Given the description of an element on the screen output the (x, y) to click on. 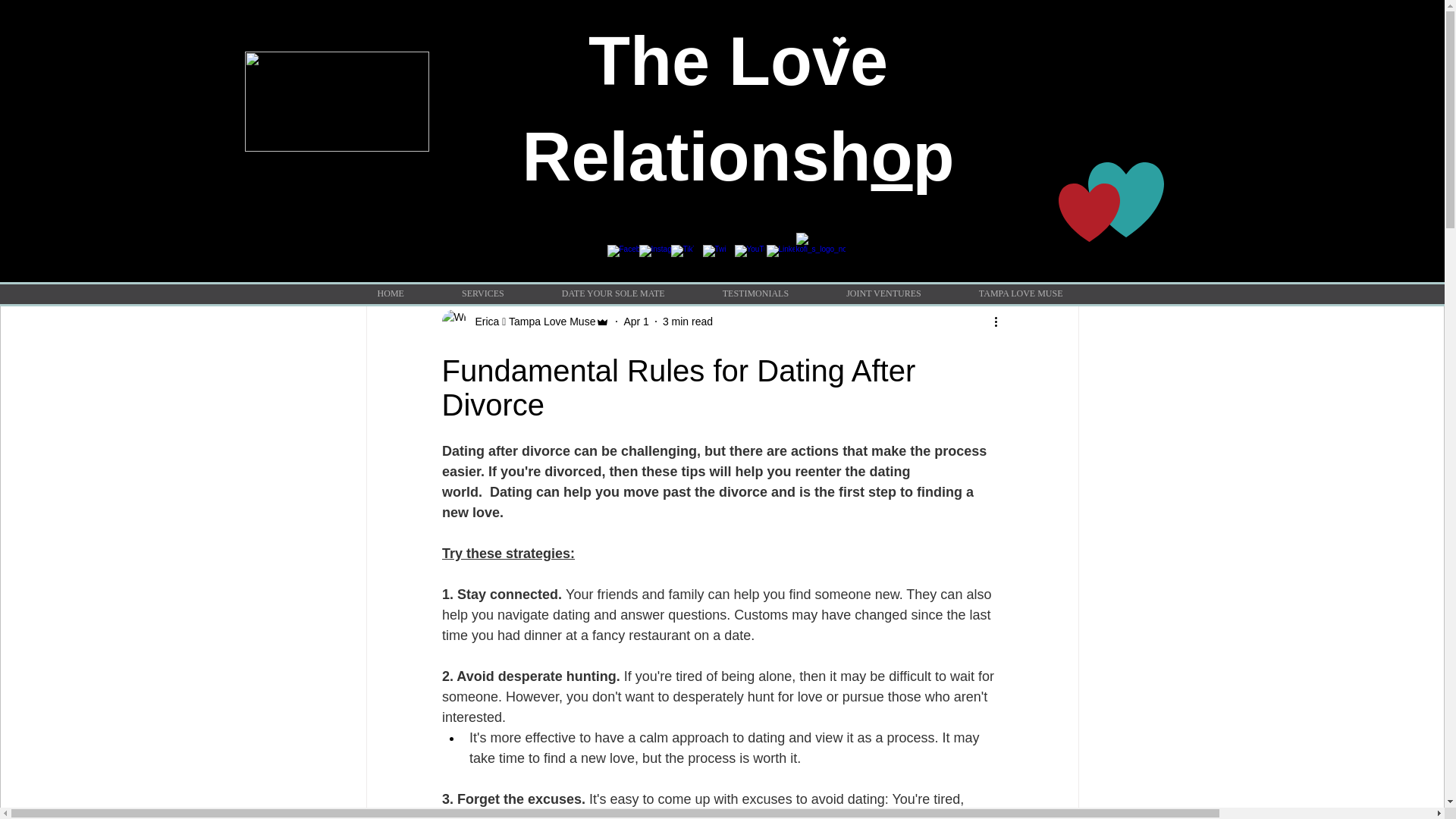
Apr 1 (635, 321)
TESTIMONIALS (755, 293)
SERVICES (482, 293)
HOME (390, 293)
The Love Relationshop (737, 108)
for Couples (573, 217)
TAMPA LOVE MUSE (1021, 293)
DATE YOUR SOLE MATE (613, 293)
JOINT VENTURES (883, 293)
for Singles (485, 217)
